Given the description of an element on the screen output the (x, y) to click on. 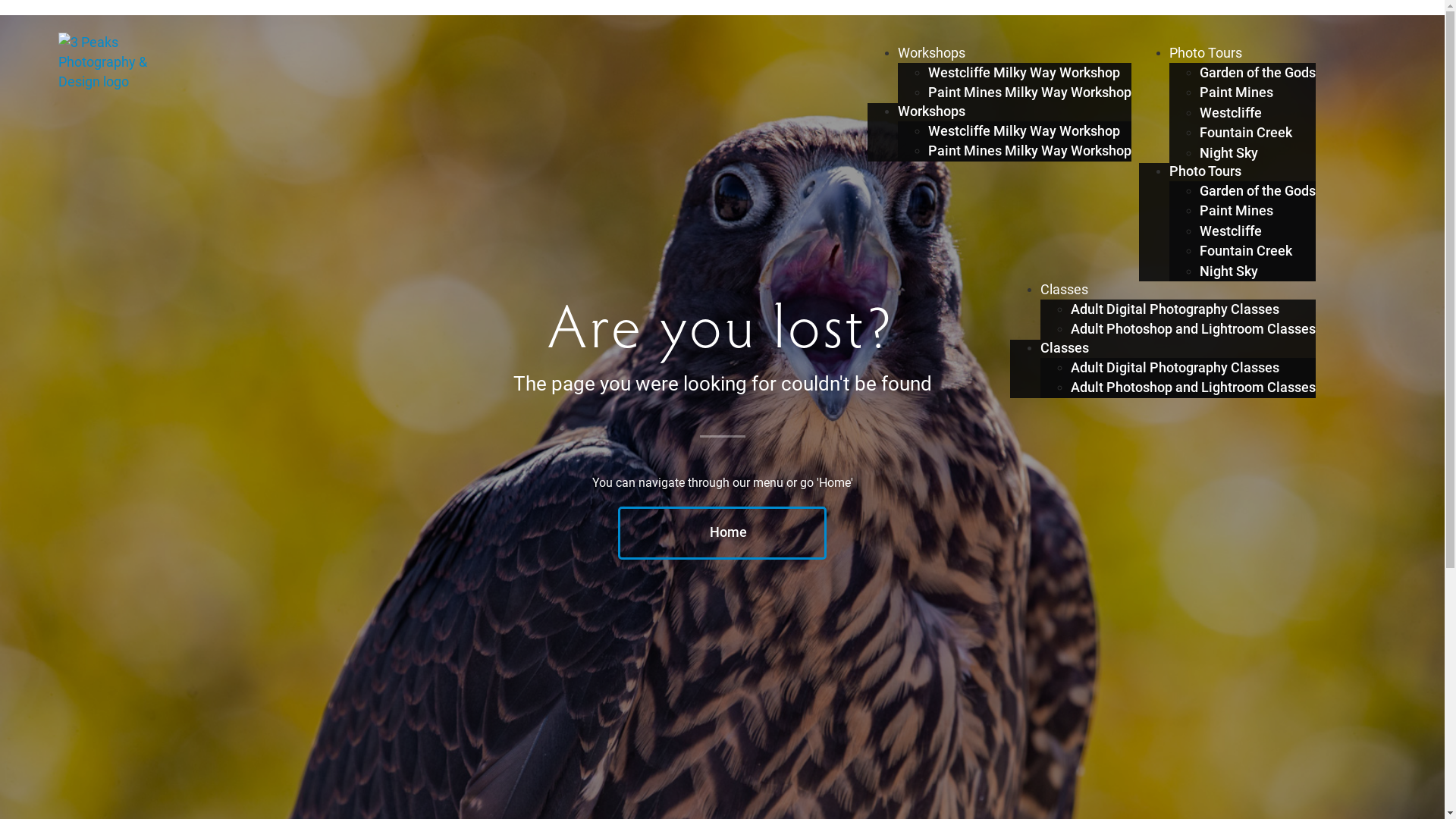
Paint Mines Element type: text (1236, 210)
Garden of the Gods Element type: text (1257, 72)
Night Sky Element type: text (1228, 152)
Paint Mines Milky Way Workshop Element type: text (1029, 92)
Paint Mines Element type: text (1236, 92)
Classes Element type: text (1064, 289)
Adult Digital Photography Classes Element type: text (1174, 308)
Workshops Element type: text (931, 52)
Paint Mines Milky Way Workshop Element type: text (1029, 150)
Photo Tours Element type: text (1205, 52)
Workshops Element type: text (931, 111)
Fountain Creek Element type: text (1245, 132)
Adult Digital Photography Classes Element type: text (1174, 367)
Westcliffe Element type: text (1230, 230)
Westcliffe Milky Way Workshop Element type: text (1024, 72)
Photo Tours Element type: text (1205, 170)
Adult Photoshop and Lightroom Classes Element type: text (1192, 328)
Fountain Creek Element type: text (1245, 250)
Adult Photoshop and Lightroom Classes Element type: text (1192, 387)
Home Element type: text (722, 532)
Classes Element type: text (1064, 347)
Garden of the Gods Element type: text (1257, 190)
Night Sky Element type: text (1228, 271)
Westcliffe Milky Way Workshop Element type: text (1024, 130)
Westcliffe Element type: text (1230, 112)
